Given the description of an element on the screen output the (x, y) to click on. 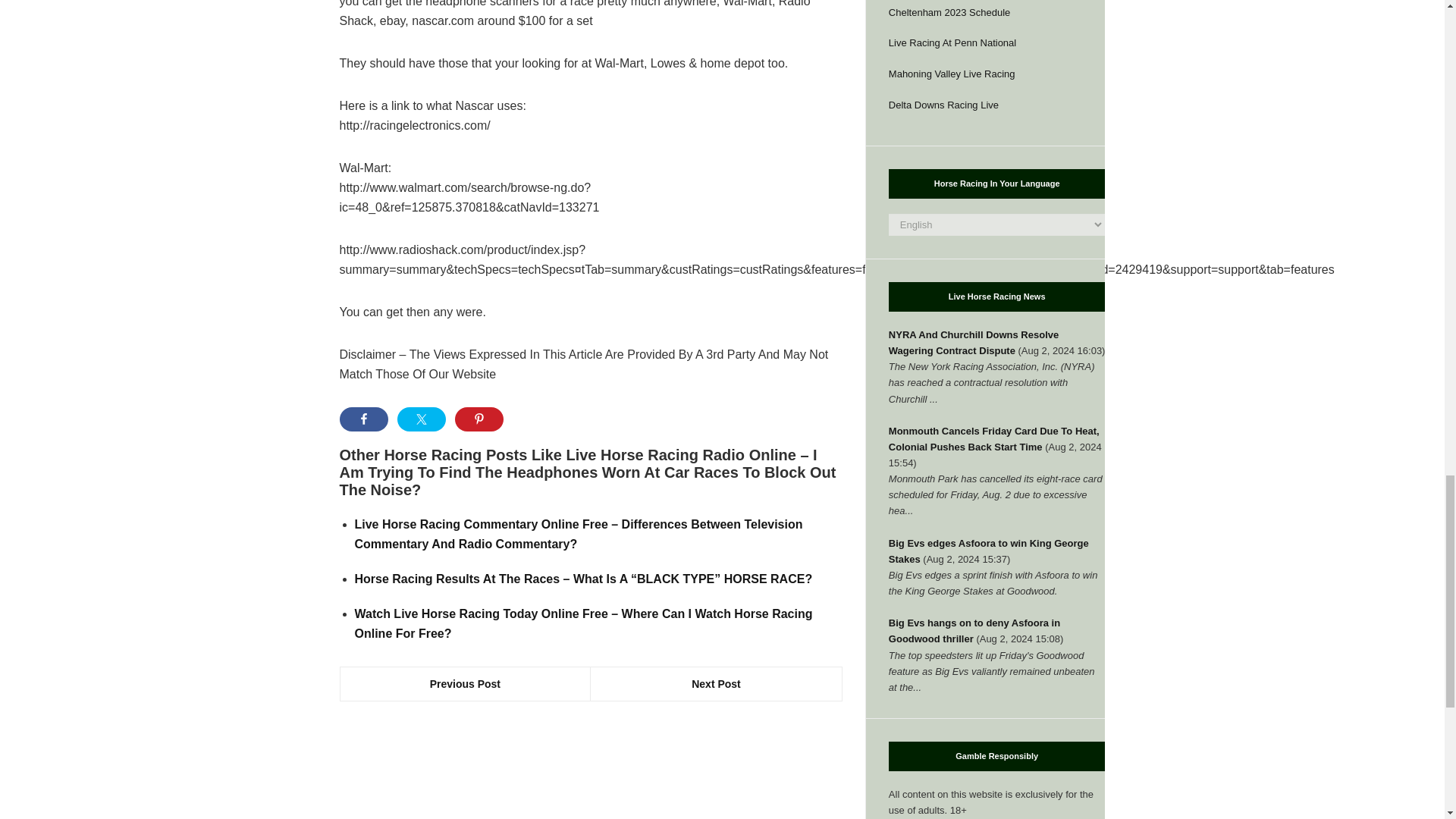
Share on Pinterest (478, 419)
Share on Facebook (363, 419)
Previous Post (465, 684)
Next Post (716, 684)
Share on Twitter (421, 419)
